Given the description of an element on the screen output the (x, y) to click on. 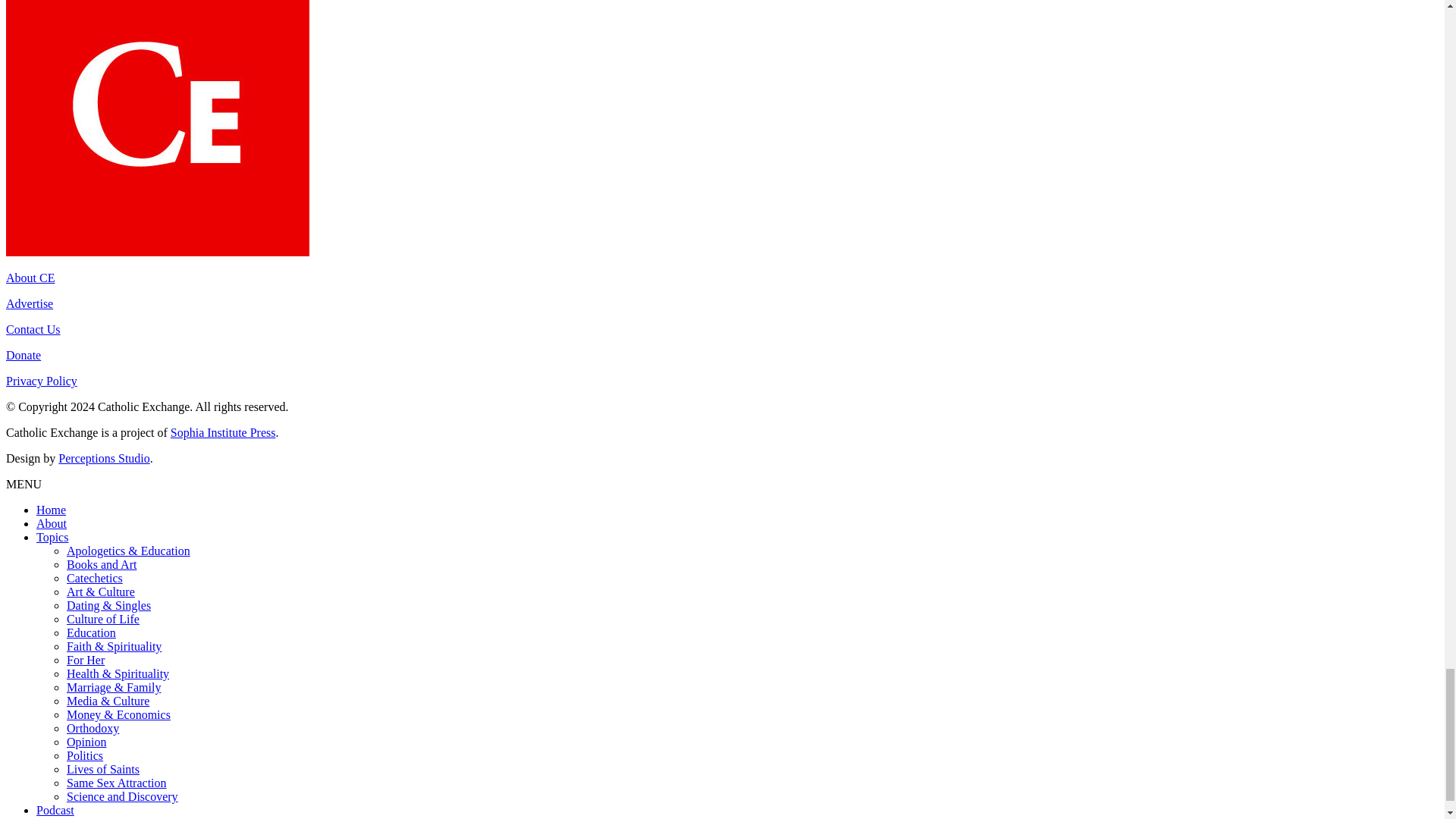
Sophia Institute Press (223, 431)
